Given the description of an element on the screen output the (x, y) to click on. 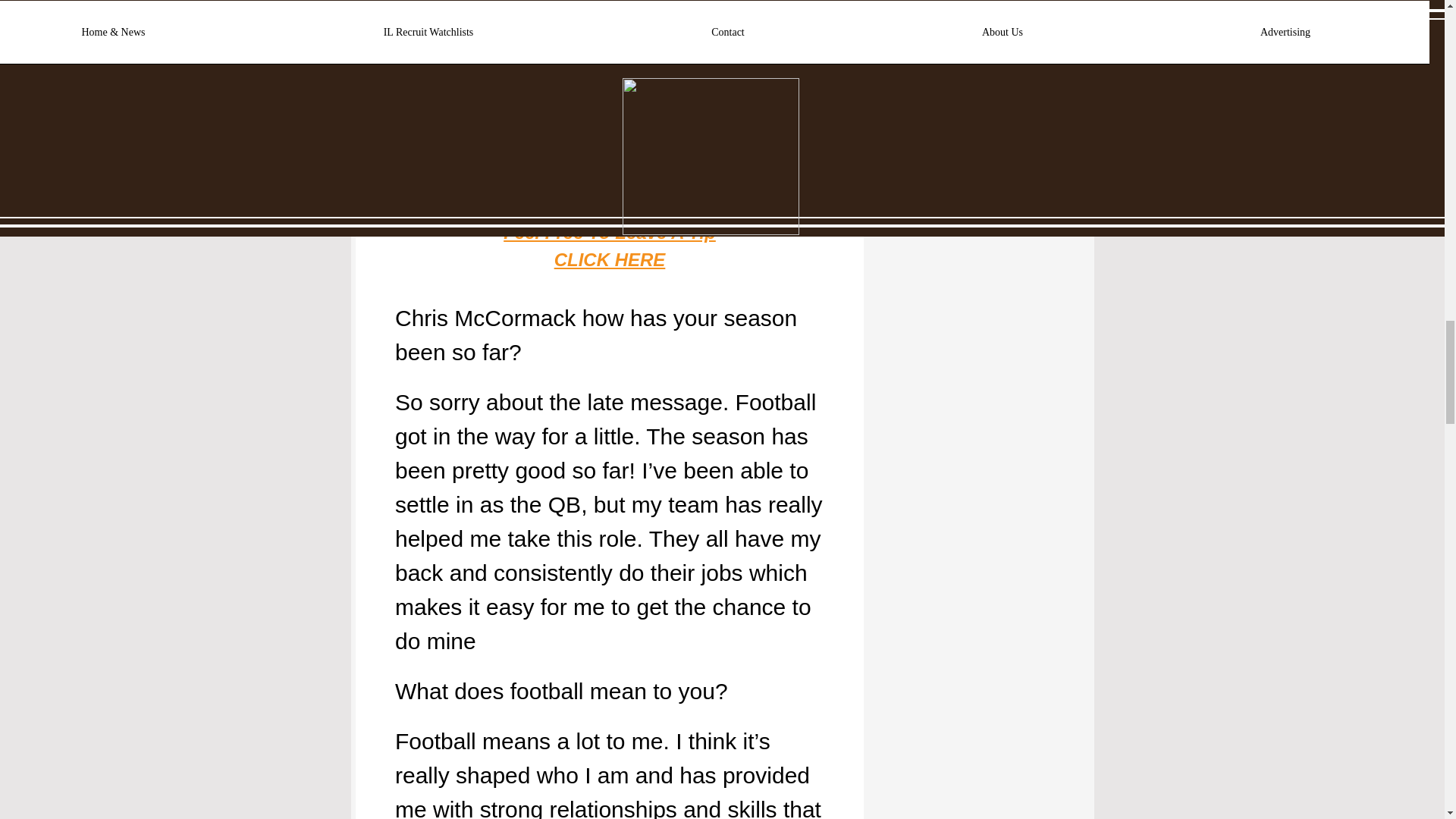
Like The Work Of Deep Dish Football And Coach Big Pete? (611, 191)
CLICK HERE (609, 259)
Feel Free To Leave A Tip (609, 231)
